Given the description of an element on the screen output the (x, y) to click on. 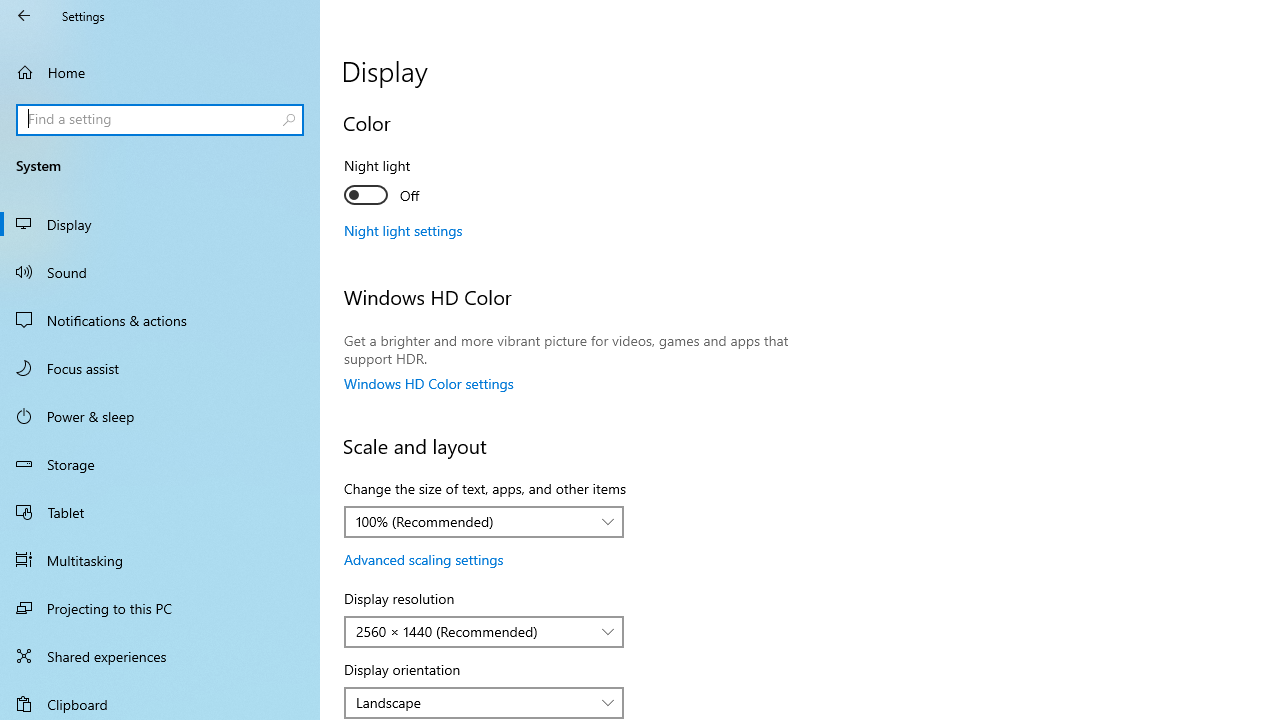
Night light (417, 183)
Search box, Find a setting (160, 119)
Multitasking (160, 559)
Display (160, 223)
Advanced scaling settings (424, 559)
Windows HD Color settings (429, 383)
Notifications & actions (160, 319)
Focus assist (160, 367)
Night light settings (403, 230)
Landscape (473, 702)
Display orientation (484, 702)
Sound (160, 271)
Power & sleep (160, 415)
Tablet (160, 511)
